Given the description of an element on the screen output the (x, y) to click on. 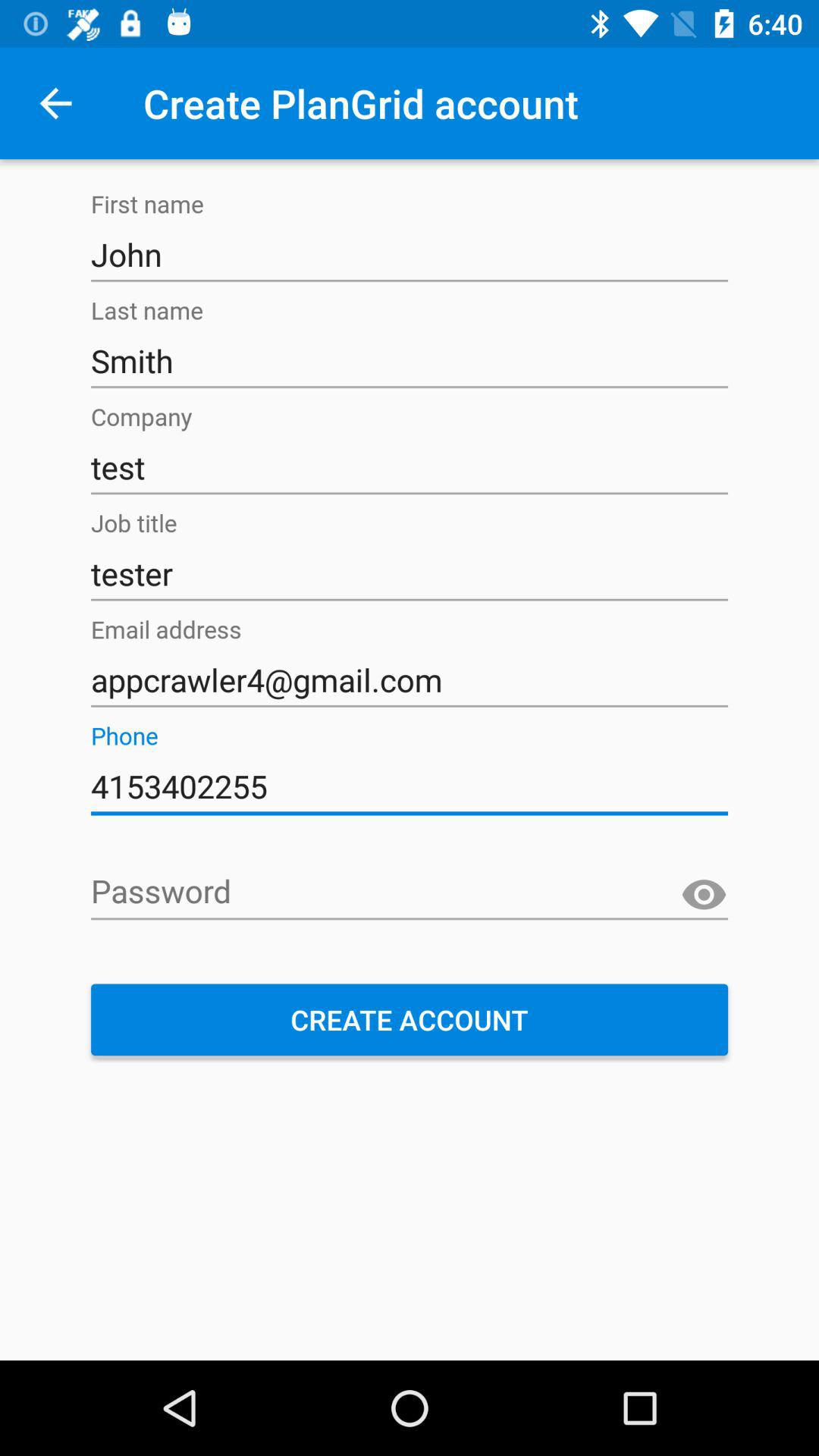
turn off item above the smith item (409, 254)
